Given the description of an element on the screen output the (x, y) to click on. 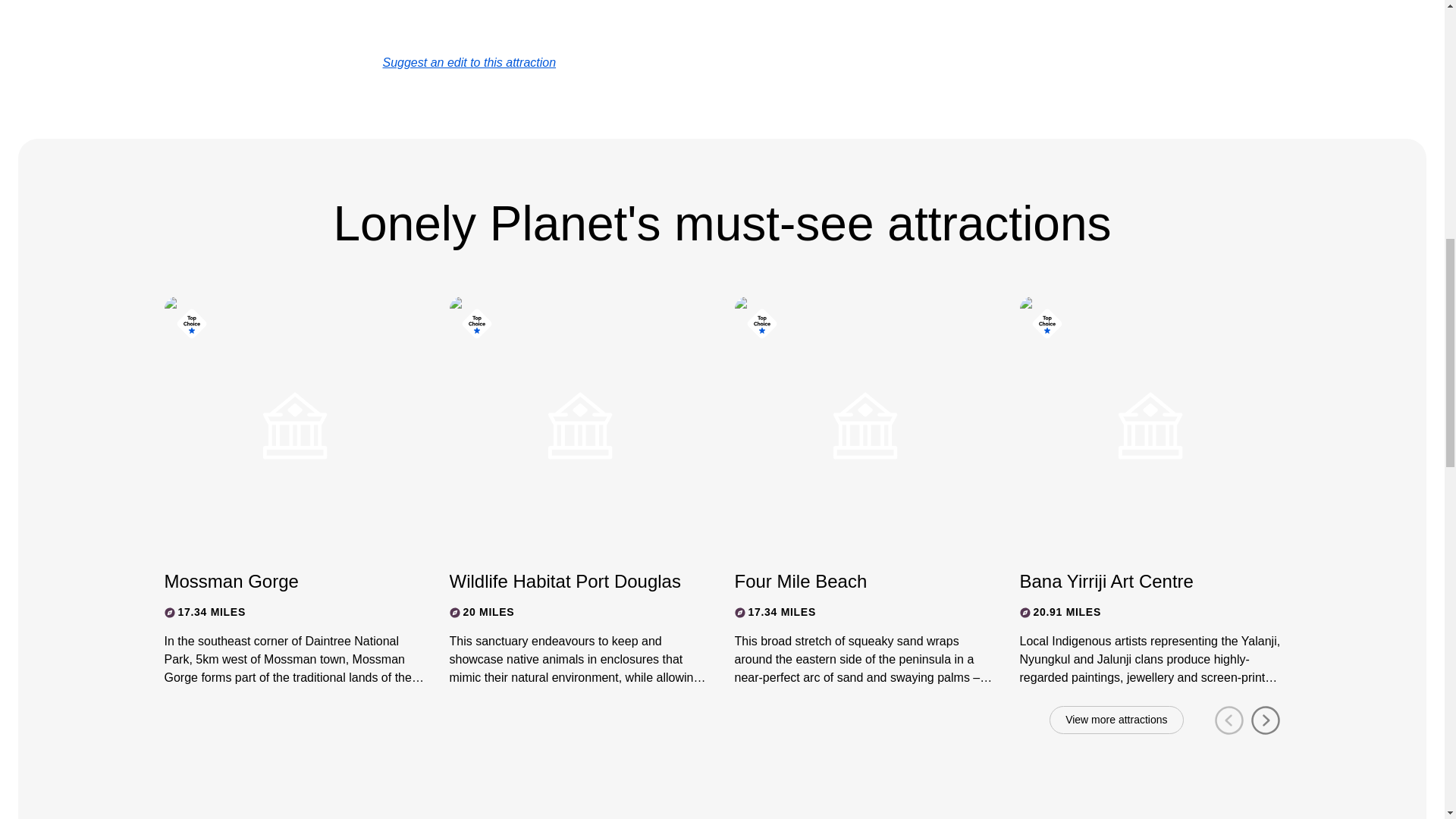
Wildlife Habitat Port Douglas (566, 580)
View more attractions (1115, 719)
Mossman Gorge (280, 580)
Suggest an edit to this attraction (468, 62)
Bana Yirriji Art Centre (1136, 580)
Four Mile Beach (851, 580)
